Given the description of an element on the screen output the (x, y) to click on. 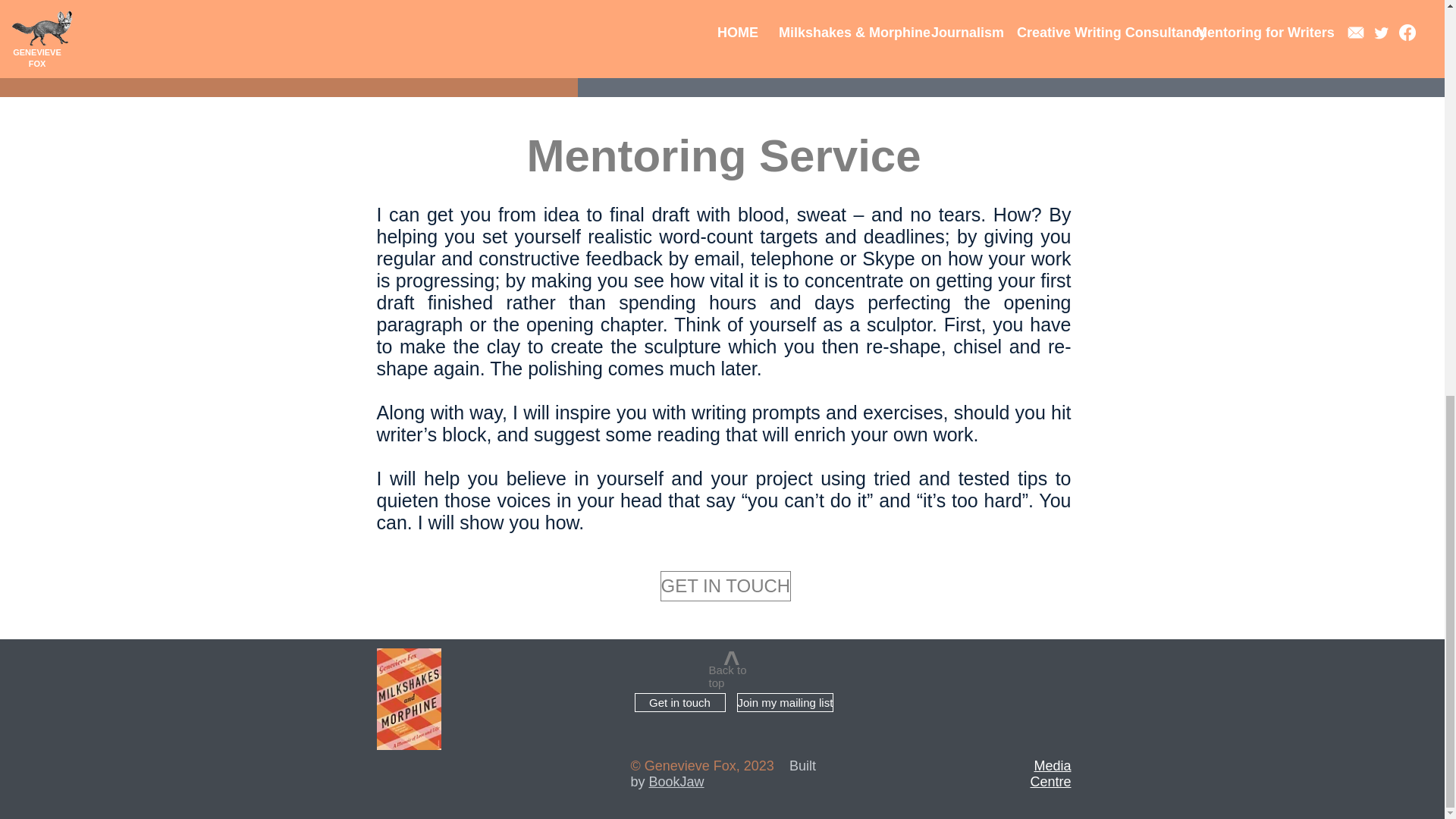
Back to top (726, 676)
Media Centre (1049, 773)
GET IN TOUCH (724, 585)
Join my mailing list (785, 701)
Get in touch (679, 701)
BookJaw (676, 781)
